Given the description of an element on the screen output the (x, y) to click on. 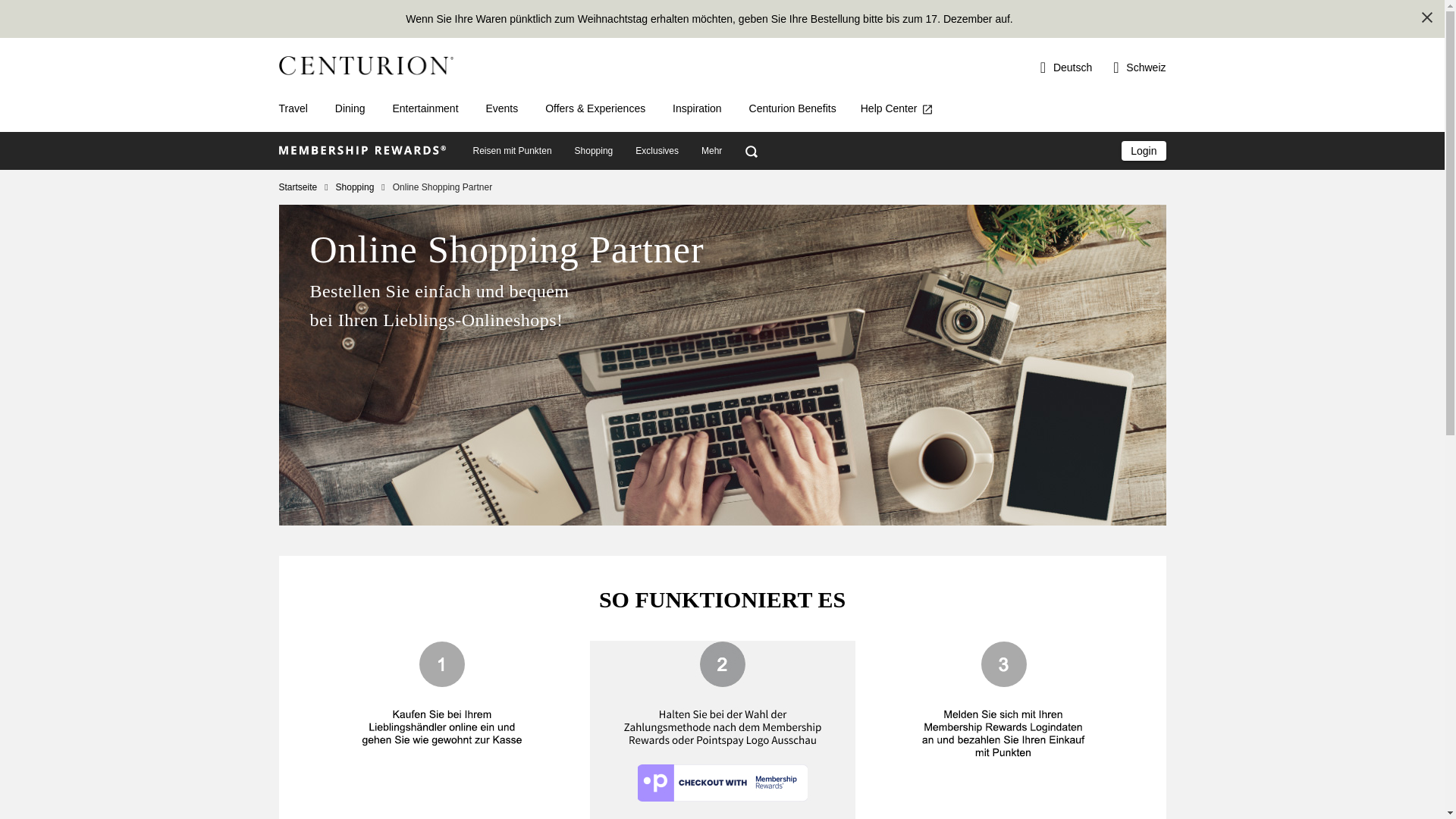
Exclusives Element type: text (657, 150)
Login Element type: text (1143, 150)
Events Element type: text (501, 108)
Dining Element type: text (350, 108)
Travel Element type: text (293, 108)
Startseite Element type: text (303, 187)
x Element type: text (1427, 17)
Entertainment Element type: text (425, 108)
Suche Element type: text (750, 150)
Offers & Experiences Element type: text (595, 108)
Mehr Element type: text (711, 150)
Centurion Benefits Element type: text (792, 108)
Reisen mit Punkten Element type: text (511, 150)
Inspiration Element type: text (696, 108)
Shopping Element type: text (360, 187)
Shopping Element type: text (593, 150)
Help Center Element type: text (897, 108)
